Given the description of an element on the screen output the (x, y) to click on. 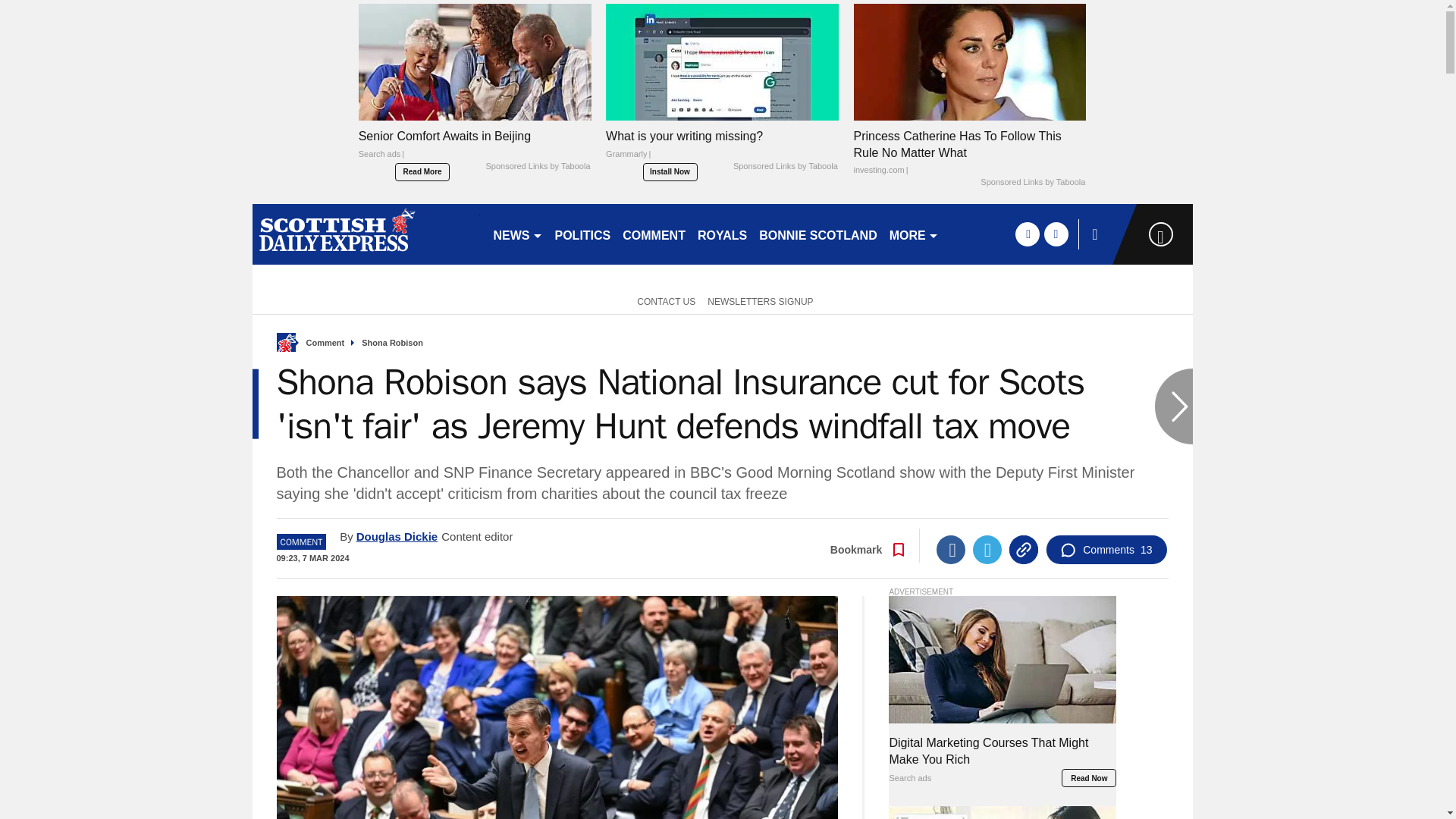
Facebook (950, 549)
Princess Catherine Has To Follow This Rule No Matter What (969, 152)
scottishdailyexpress (365, 233)
Install Now (670, 171)
POLITICS (582, 233)
NEWS (517, 233)
COMMENT (653, 233)
twitter (1055, 233)
Read More (421, 171)
What is your writing missing? (721, 61)
facebook (1026, 233)
BONNIE SCOTLAND (817, 233)
ROYALS (721, 233)
Comments (1105, 549)
